Given the description of an element on the screen output the (x, y) to click on. 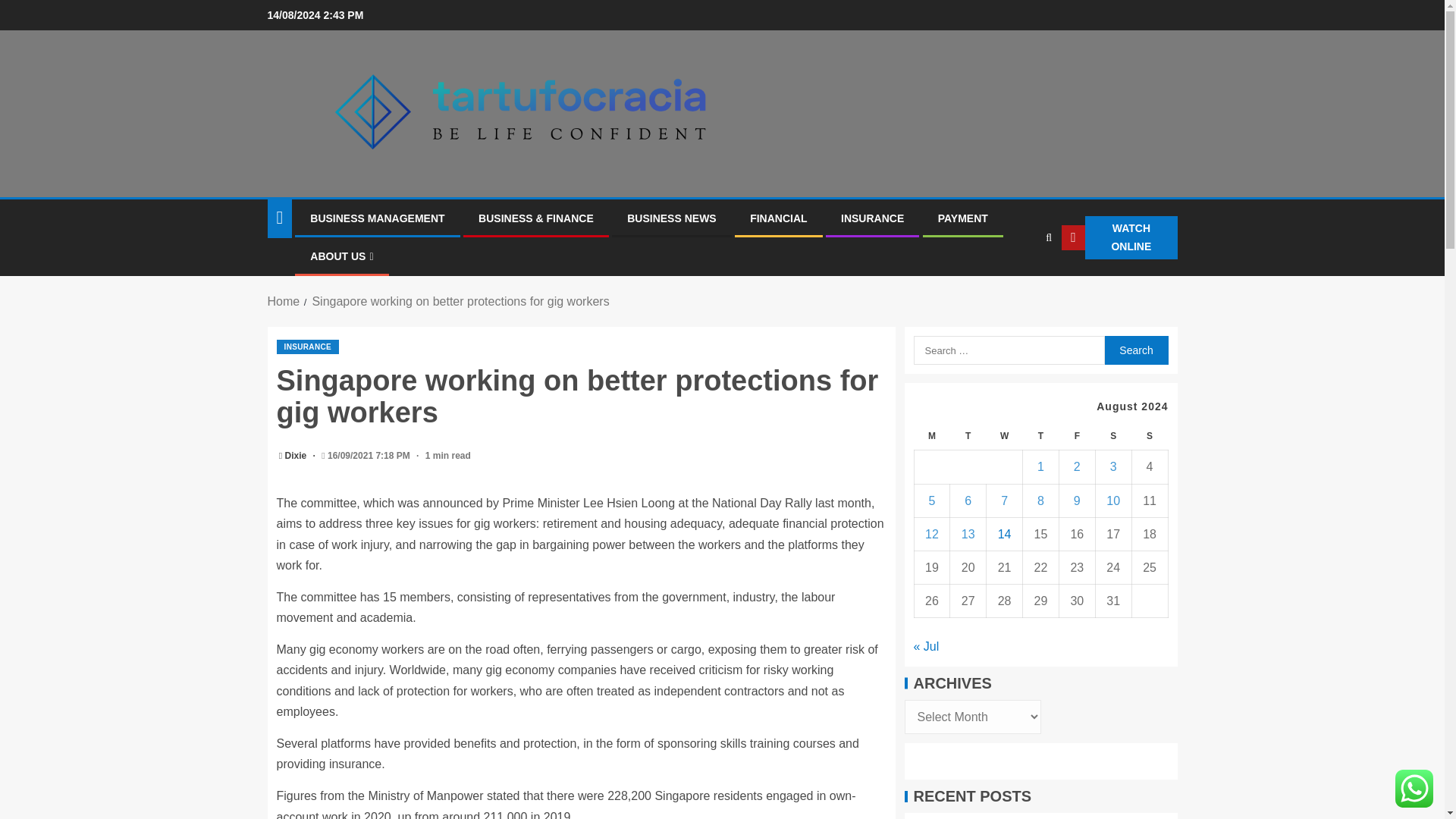
Saturday (1112, 436)
WATCH ONLINE (1119, 238)
FINANCIAL (777, 218)
Search (1018, 284)
Thursday (1041, 436)
INSURANCE (872, 218)
BUSINESS NEWS (671, 218)
INSURANCE (307, 346)
BUSINESS MANAGEMENT (377, 218)
Friday (1076, 436)
